Given the description of an element on the screen output the (x, y) to click on. 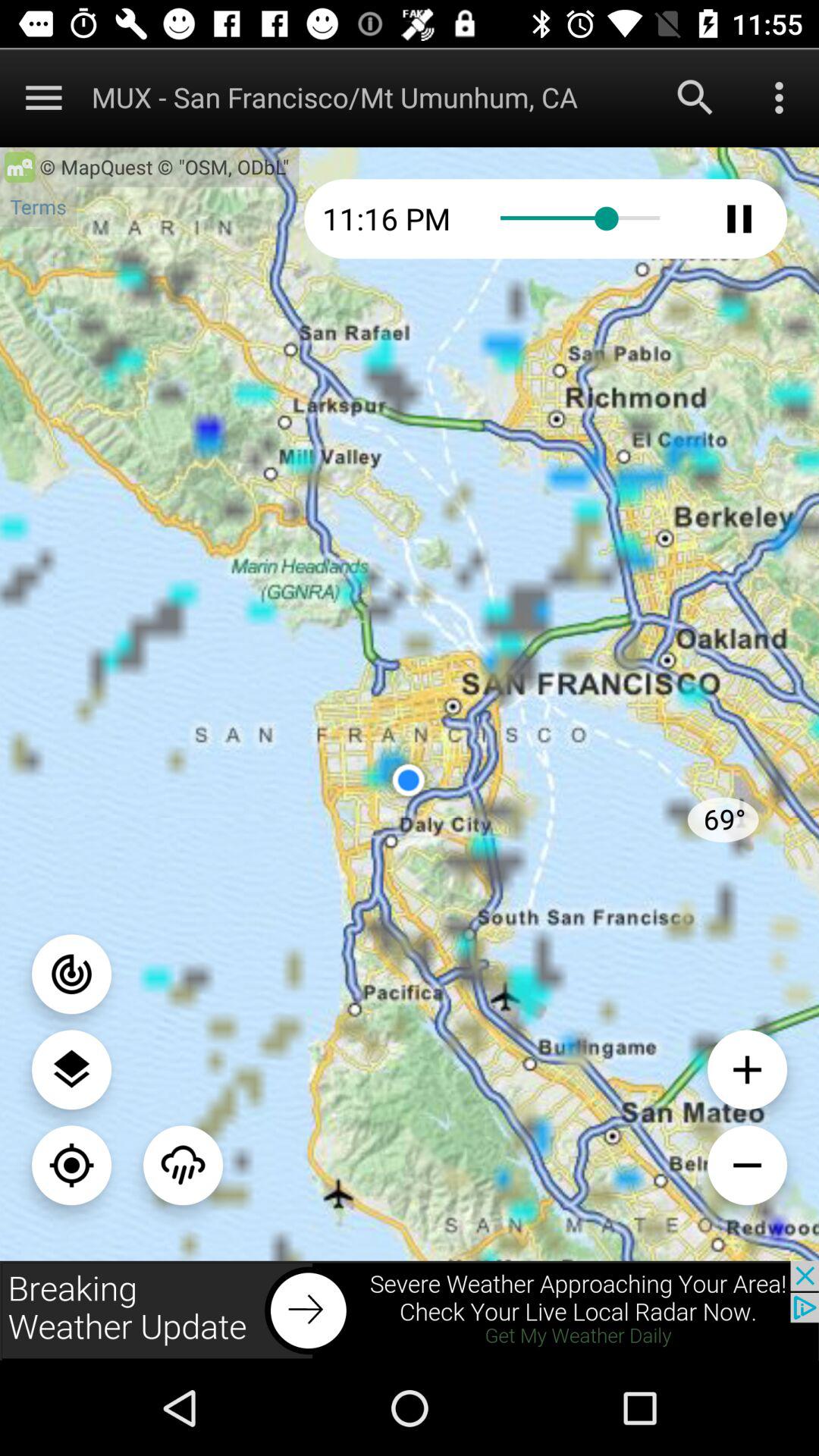
menu (779, 97)
